Given the description of an element on the screen output the (x, y) to click on. 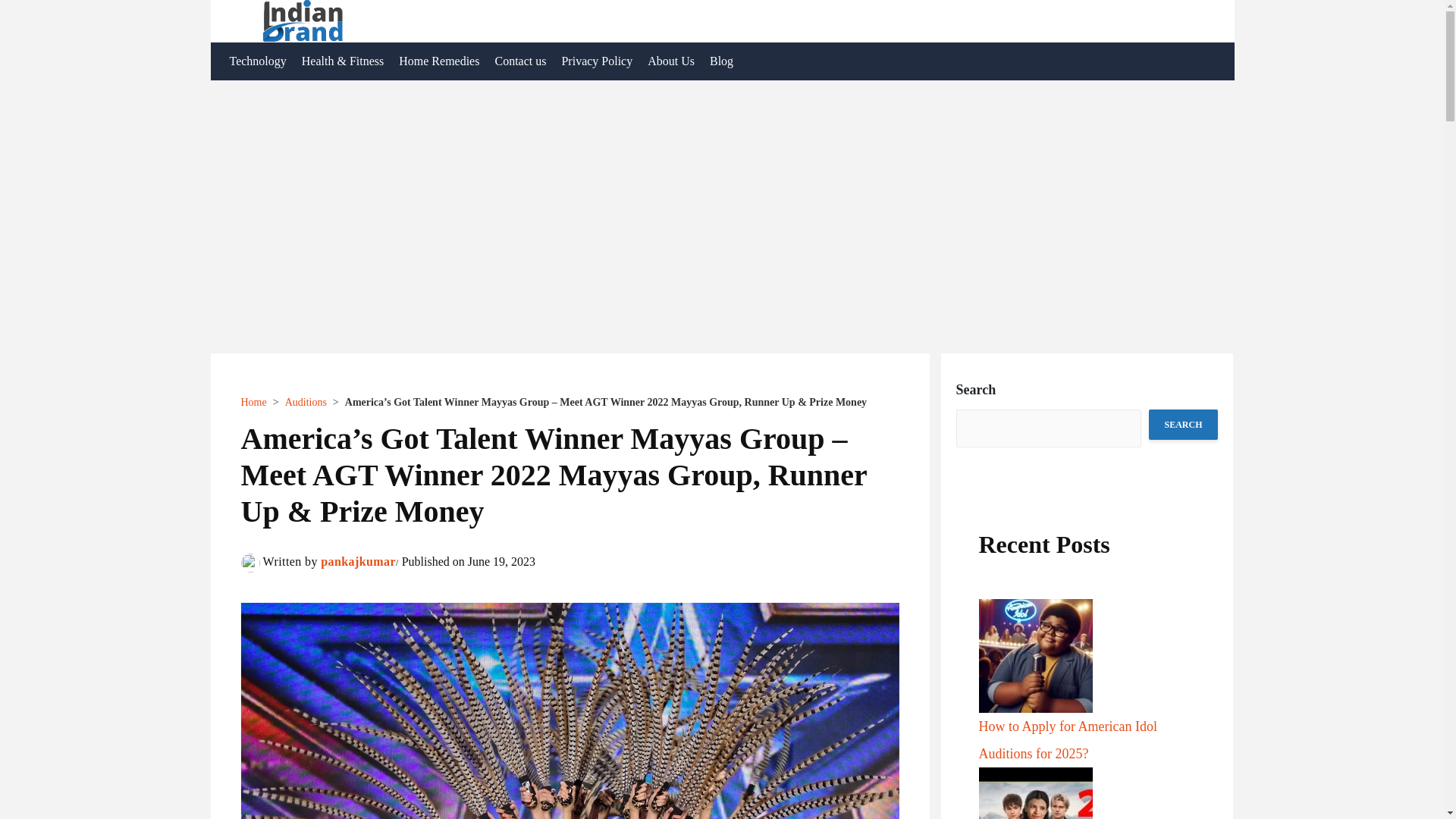
SEARCH (1182, 424)
Posts by pankajkumar (358, 561)
Auditions (305, 401)
About Us (670, 61)
Privacy Policy (596, 61)
Contact us (519, 61)
Home (253, 401)
Home (253, 401)
